Given the description of an element on the screen output the (x, y) to click on. 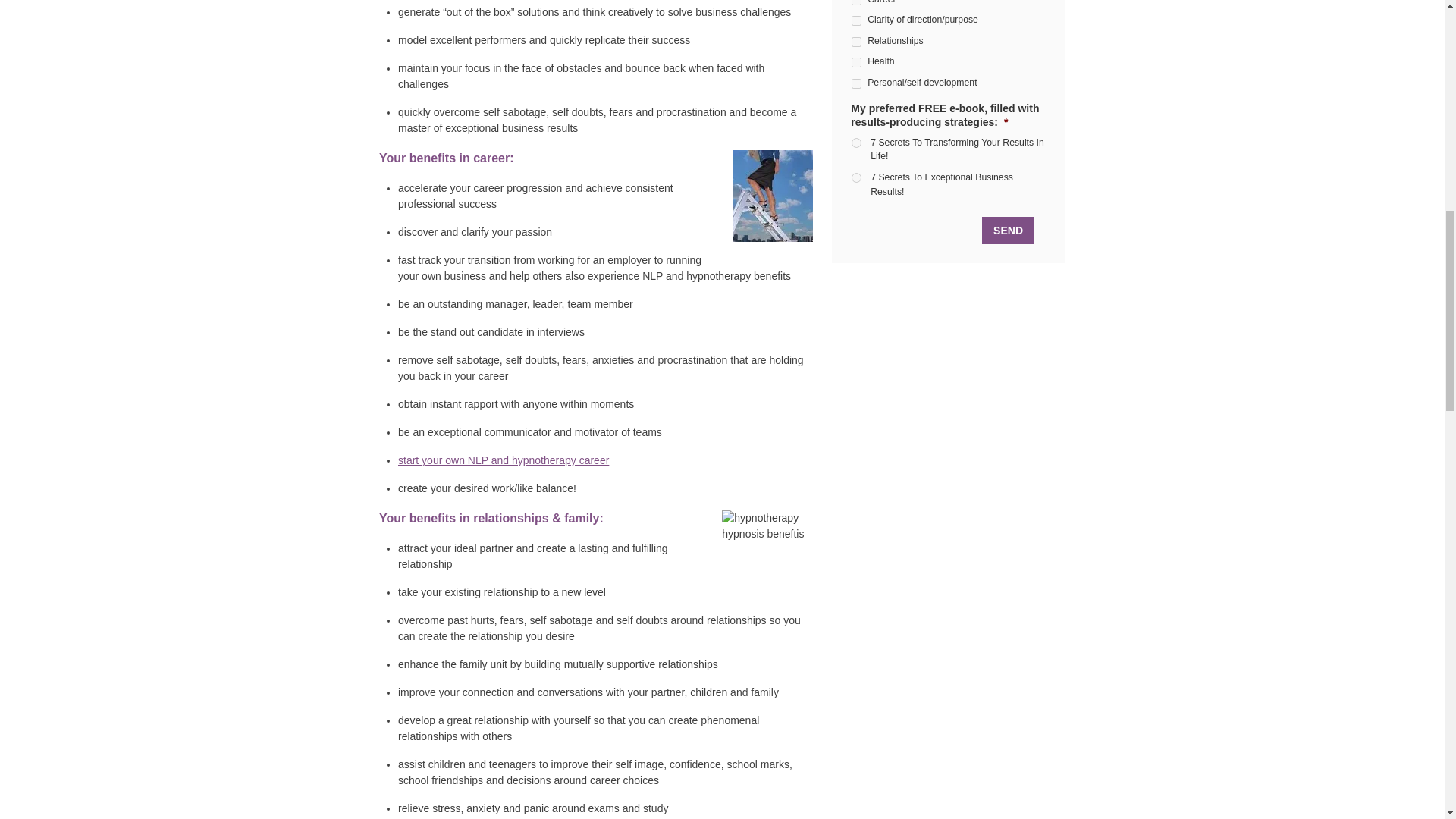
Send (1007, 230)
7 Secrets To Transforming Your Results In Life! (856, 143)
Health (856, 62)
Career (856, 2)
7 Secrets To Exceptional Business Results! (856, 177)
Relationships (856, 41)
